Given the description of an element on the screen output the (x, y) to click on. 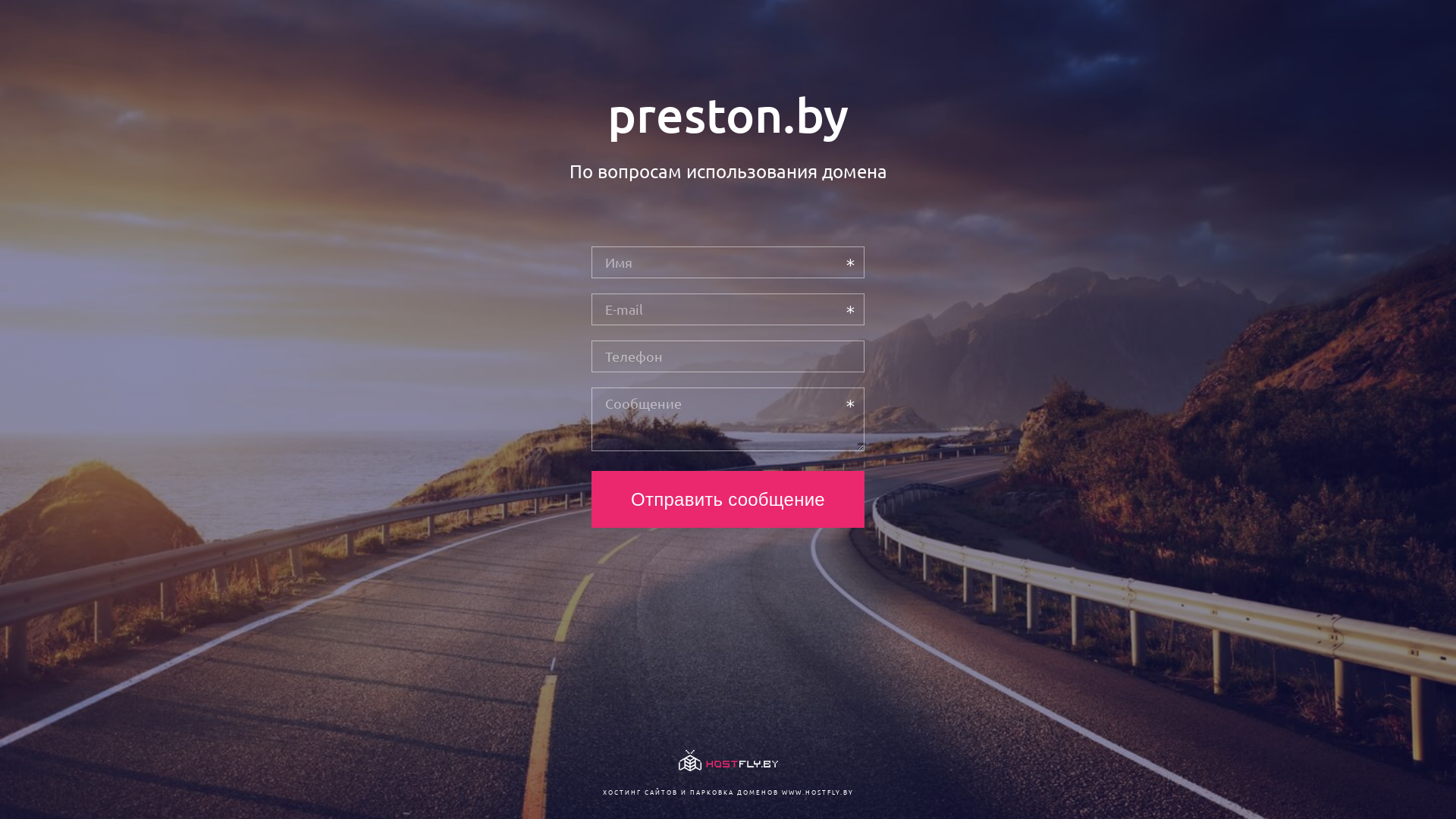
WWW.HOSTFLY.BY Element type: text (817, 791)
